Given the description of an element on the screen output the (x, y) to click on. 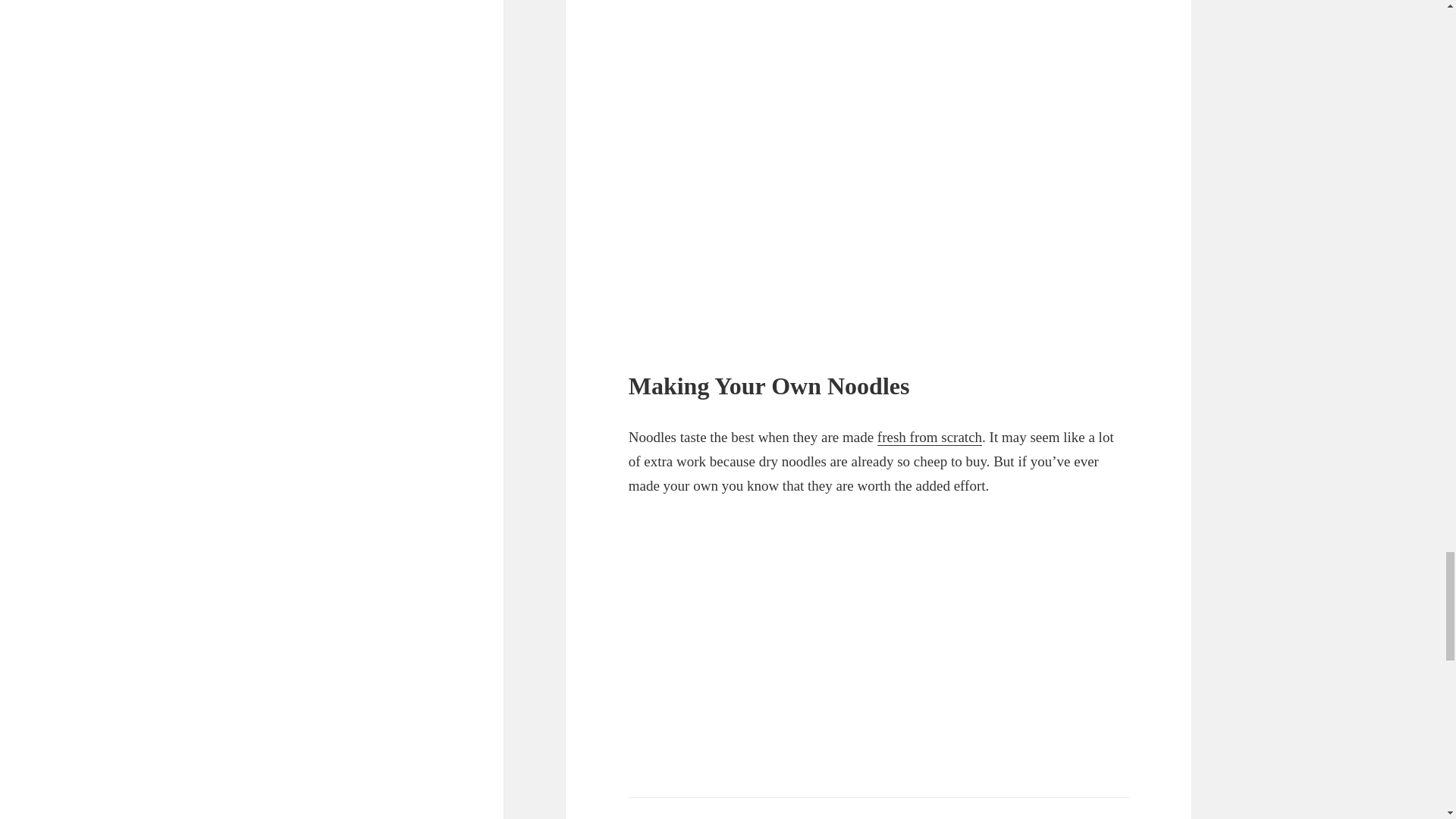
fresh from scratch (929, 437)
